Given the description of an element on the screen output the (x, y) to click on. 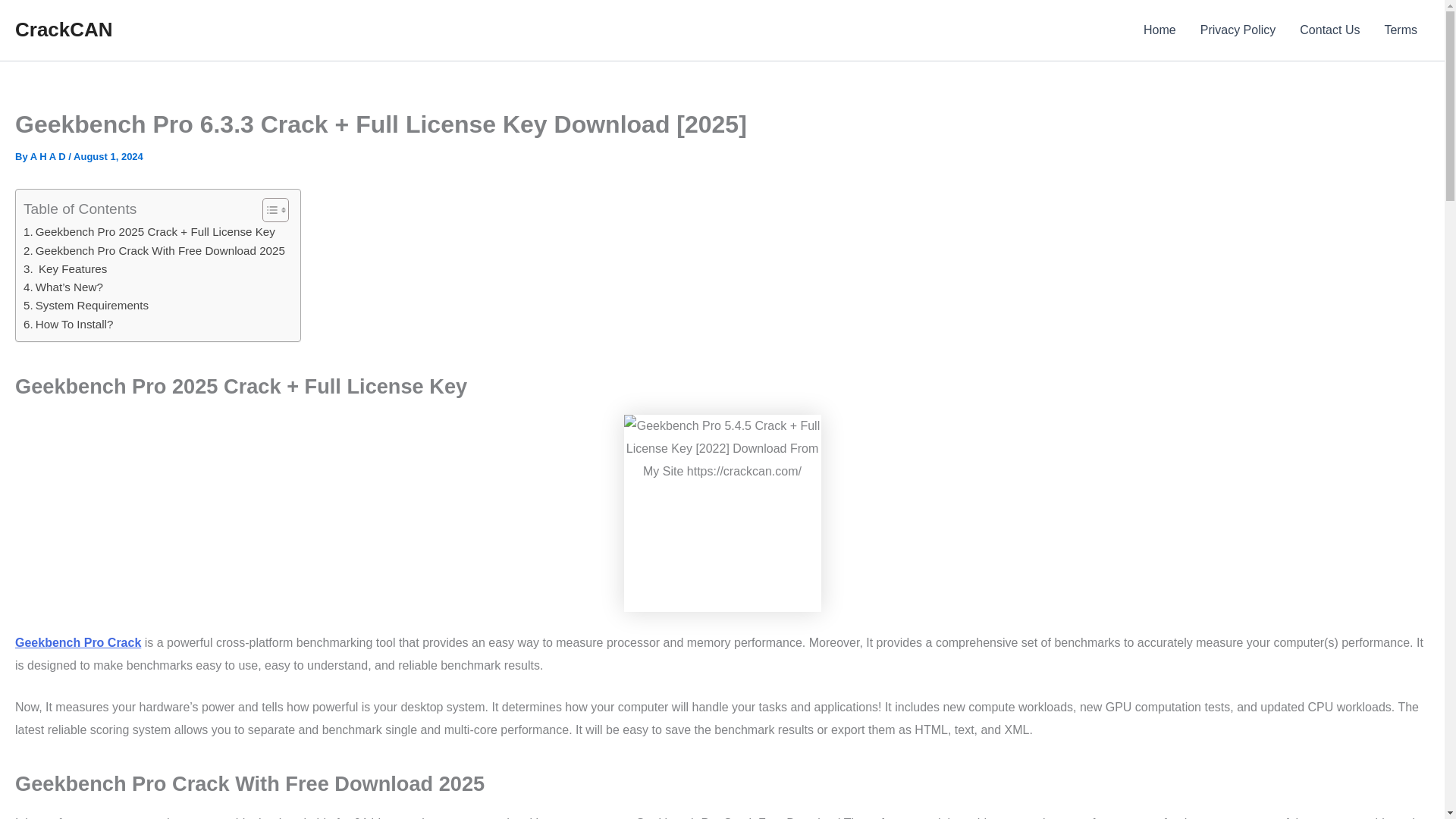
A H A D (49, 156)
CrackCAN (63, 29)
System Requirements (85, 305)
Terms (1400, 30)
Privacy Policy (1238, 30)
Contact Us (1329, 30)
How To Install? (68, 324)
View all posts by A H A D (49, 156)
How To Install? (68, 324)
Geekbench Pro Crack With Free Download 2025 (154, 250)
 Key Features (64, 269)
Home (1159, 30)
System Requirements (85, 305)
Geekbench Pro Crack (77, 642)
